Given the description of an element on the screen output the (x, y) to click on. 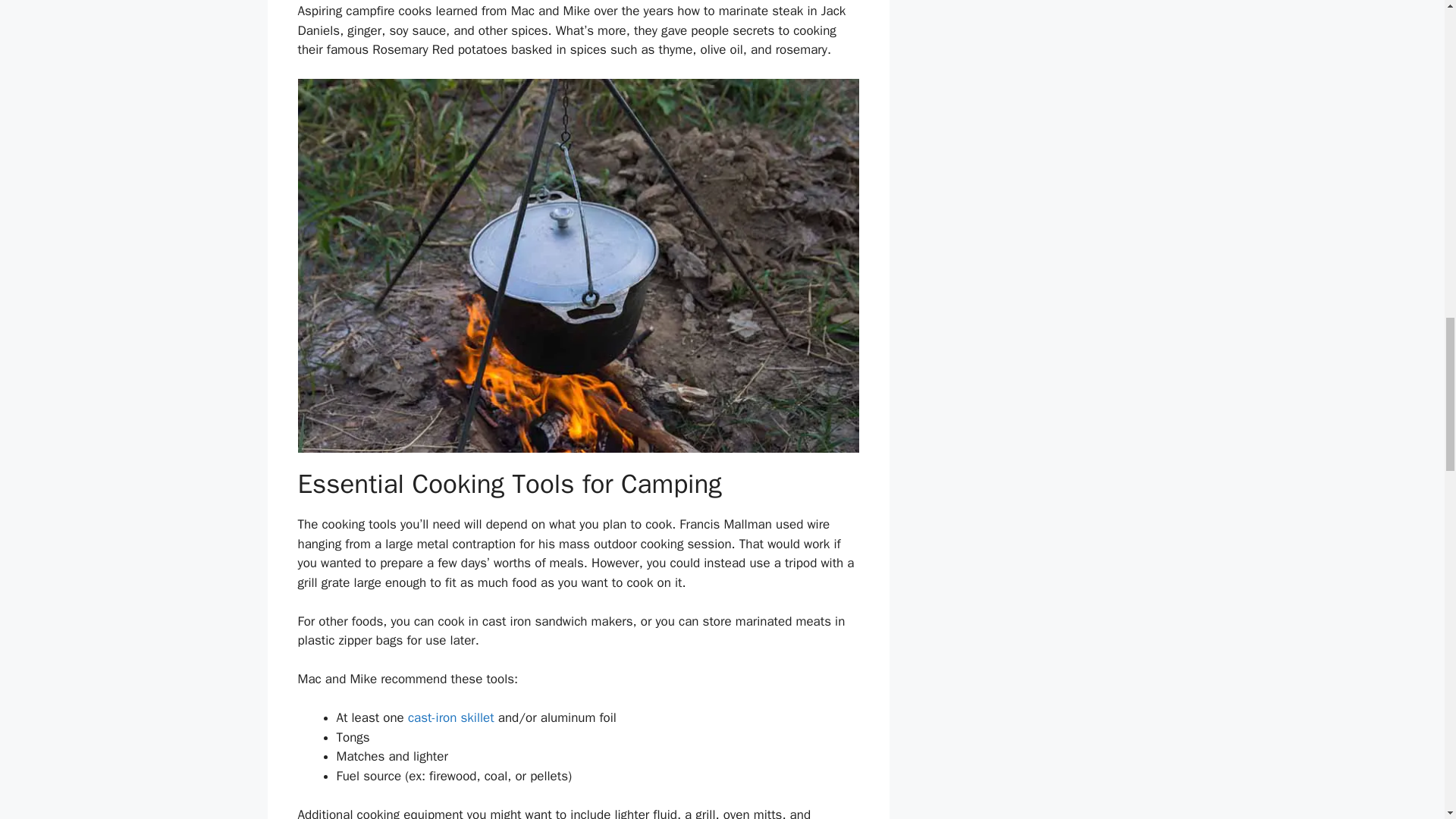
cast-iron skillet (449, 717)
